Given the description of an element on the screen output the (x, y) to click on. 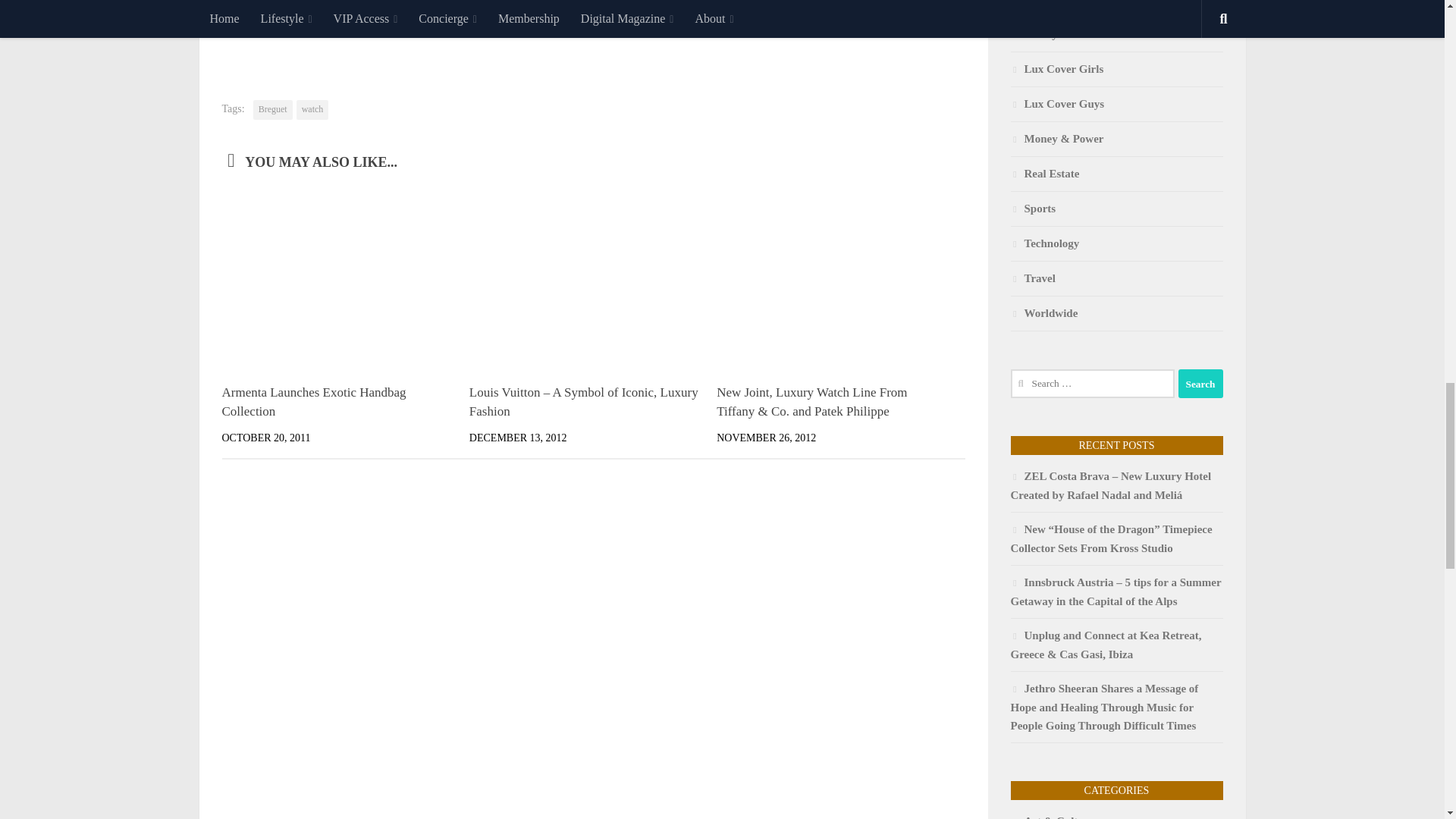
Print Content (953, 44)
Search (1200, 383)
Search (1200, 383)
